Given the description of an element on the screen output the (x, y) to click on. 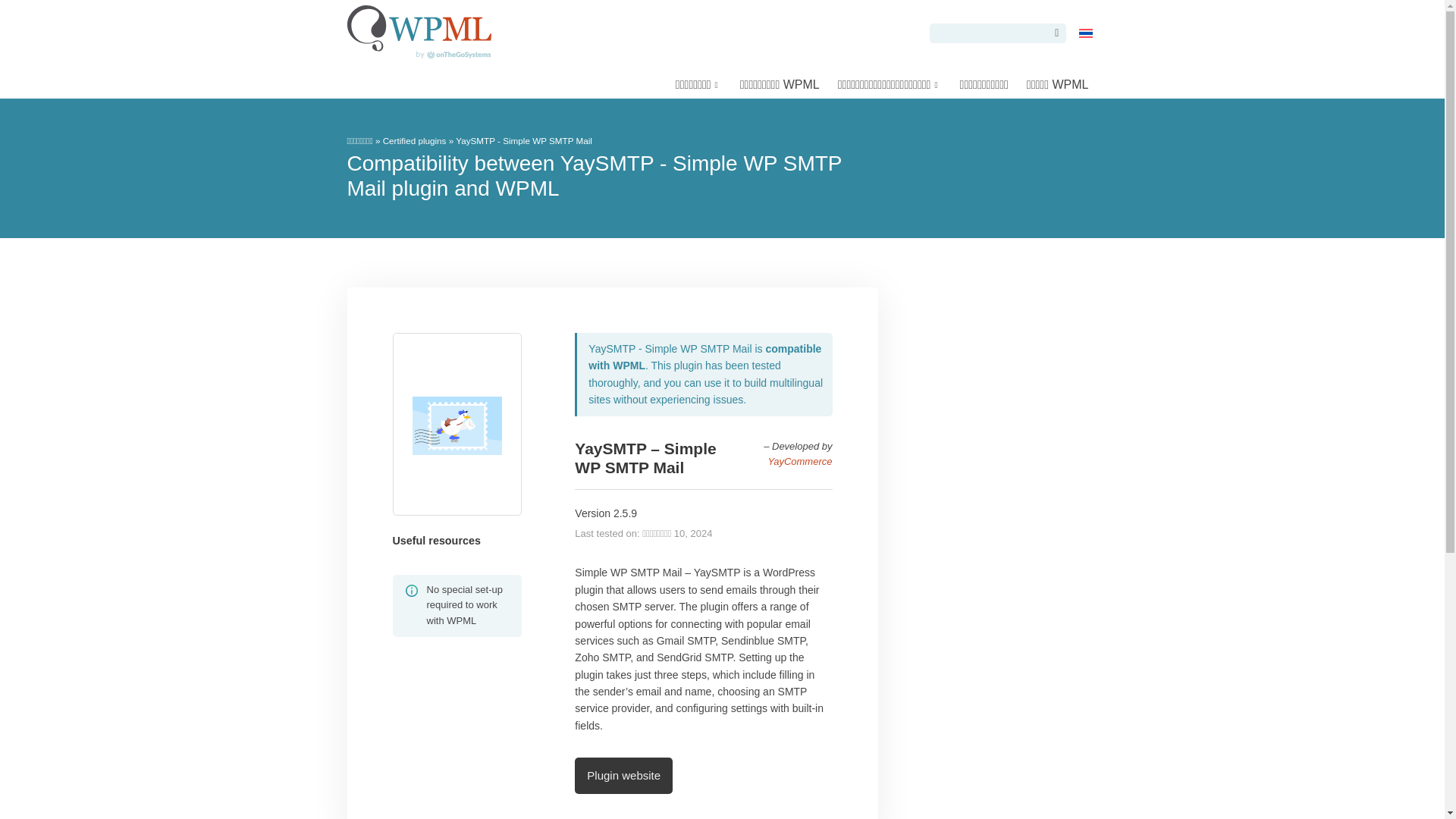
Certified plugins (414, 140)
YayCommerce (799, 460)
Search (1053, 33)
Search (1053, 33)
